Given the description of an element on the screen output the (x, y) to click on. 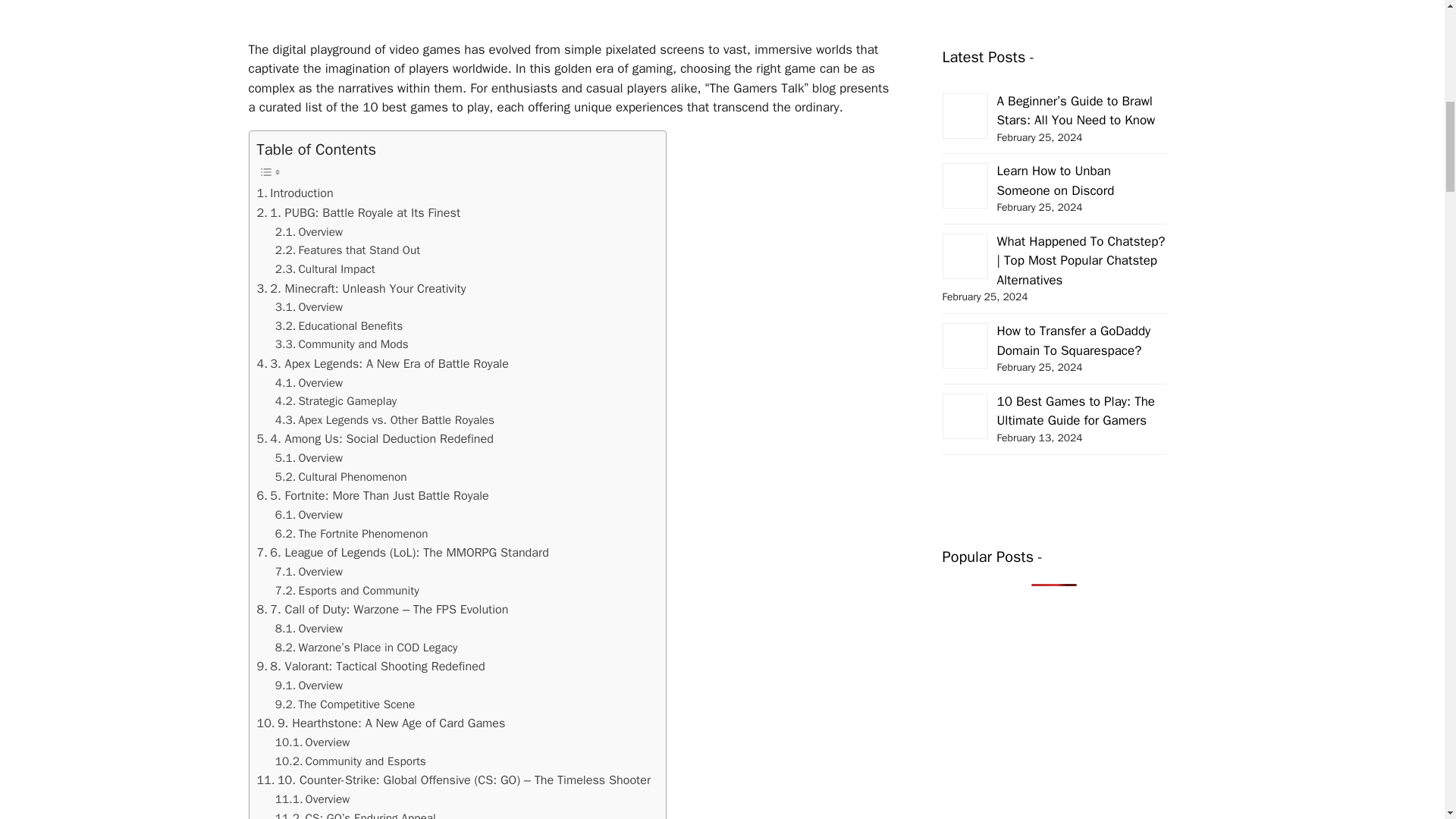
Educational Benefits (339, 325)
4. Among Us: Social Deduction Redefined (374, 438)
Overview (308, 307)
Overview (308, 307)
Overview (308, 383)
Overview (308, 231)
Overview (308, 231)
The Fortnite Phenomenon (351, 533)
Cultural Impact (325, 269)
3. Apex Legends: A New Era of Battle Royale (382, 363)
2. Minecraft: Unleash Your Creativity (360, 288)
Apex Legends vs. Other Battle Royales (385, 420)
Features that Stand Out (347, 250)
1. PUBG: Battle Royale at Its Finest (358, 212)
1. PUBG: Battle Royale at Its Finest (358, 212)
